Given the description of an element on the screen output the (x, y) to click on. 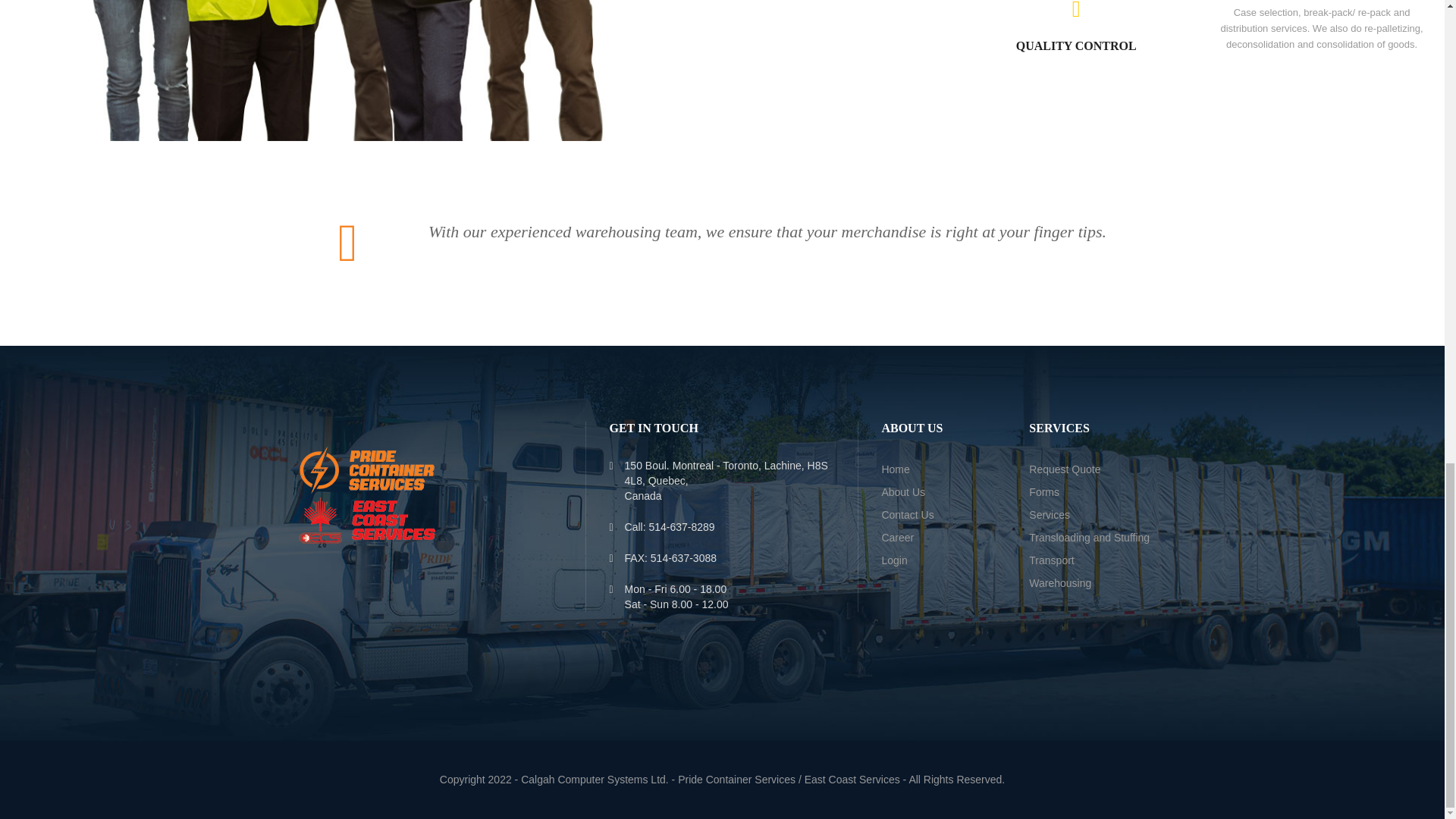
Contact Us (906, 514)
Career (897, 537)
Home (894, 469)
Warehousing (1059, 582)
Forms (1044, 491)
Services (1049, 514)
Request Quote (1064, 469)
Transloading and Stuffing (1089, 537)
About Us (902, 491)
Login (893, 560)
